Given the description of an element on the screen output the (x, y) to click on. 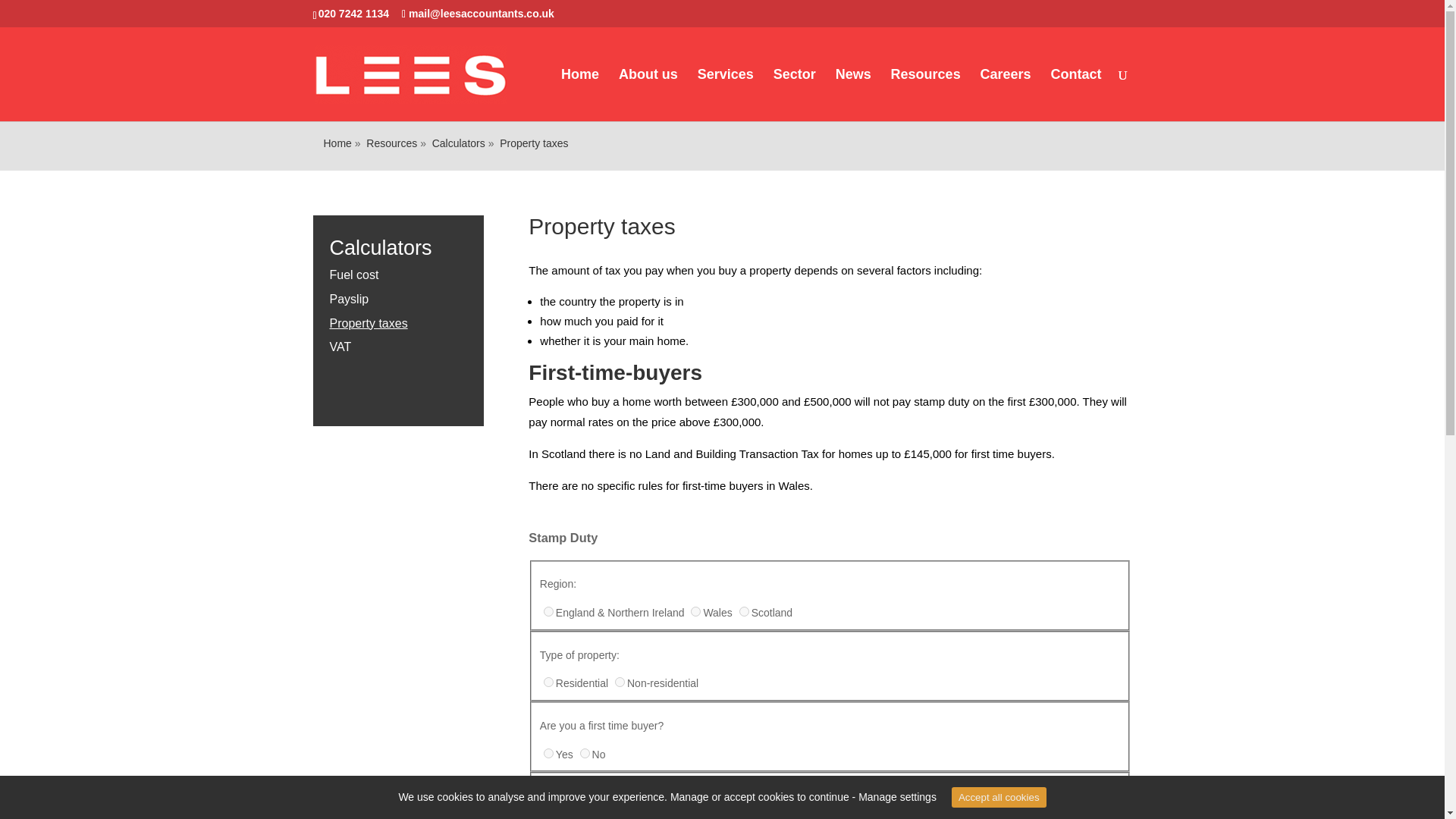
Property taxes (368, 323)
Sector (794, 94)
Fuel cost (353, 274)
Property taxes (533, 143)
Calculators (458, 143)
Resources (391, 143)
Payslip (348, 298)
Resources (925, 94)
Home (336, 143)
Services (725, 94)
Careers (1004, 94)
About us (648, 94)
Home (579, 94)
Contact (1076, 94)
VAT (339, 346)
